Given the description of an element on the screen output the (x, y) to click on. 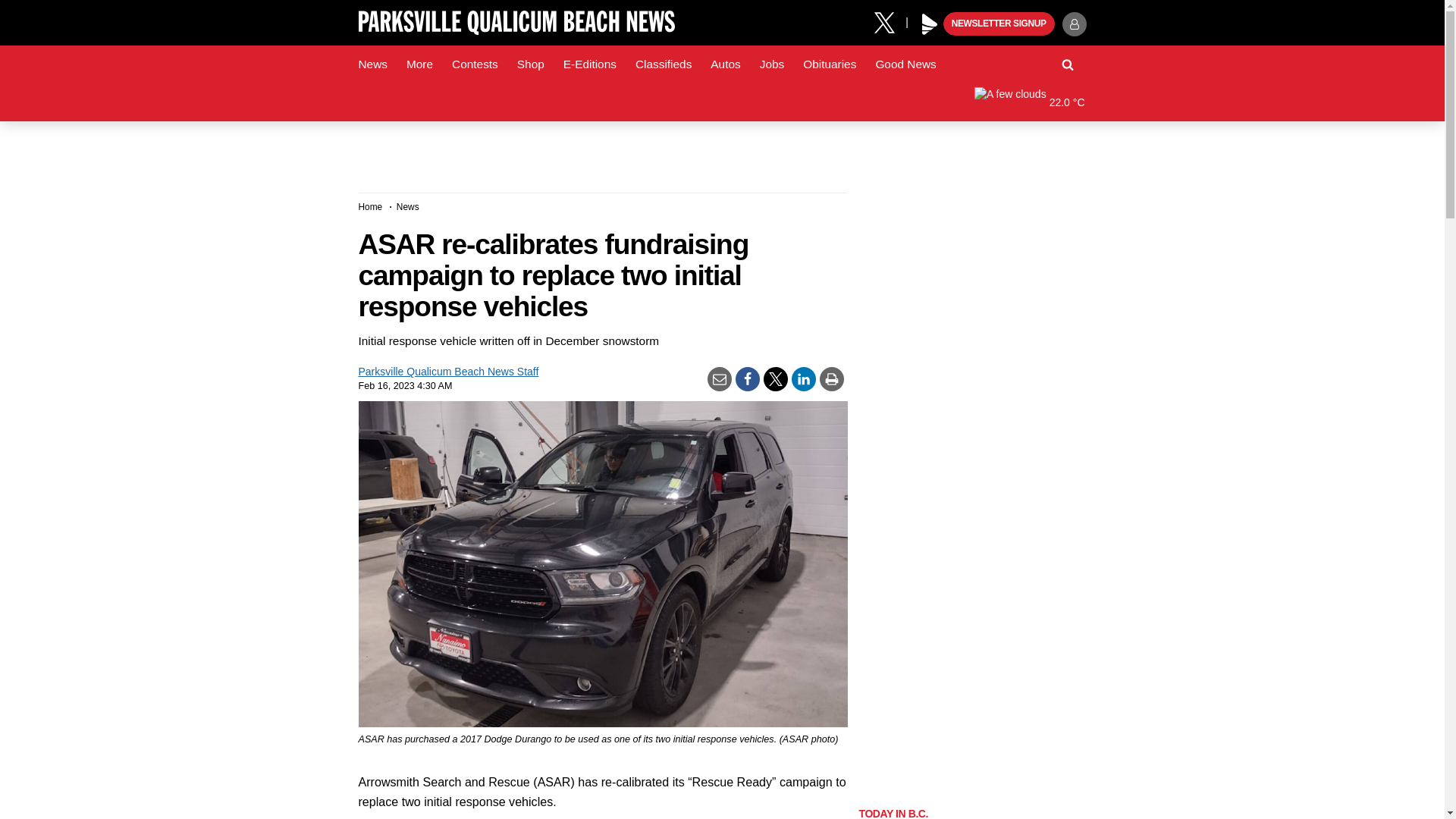
Black Press Media (929, 24)
NEWSLETTER SIGNUP (998, 24)
News (372, 64)
Play (929, 24)
X (889, 21)
